Given the description of an element on the screen output the (x, y) to click on. 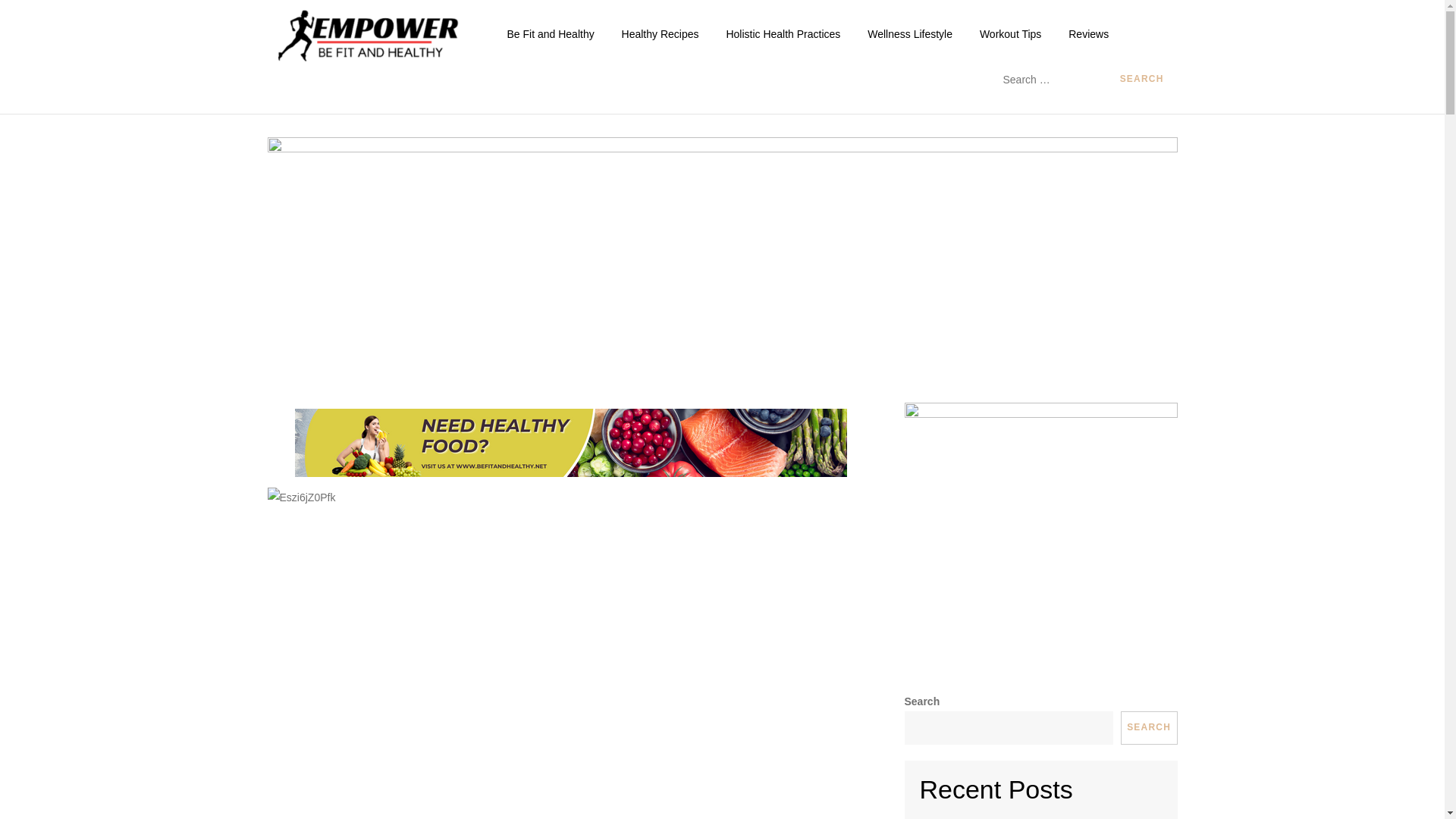
Wellness Lifestyle (909, 33)
Holistic Health Practices (782, 33)
Be Fit and Healthy (594, 49)
Reviews (1089, 33)
Workout Tips (1010, 33)
Healthy Recipes (660, 33)
Be Fit and Healthy (550, 33)
Search (1141, 79)
Search (1141, 79)
Search (1141, 79)
